Given the description of an element on the screen output the (x, y) to click on. 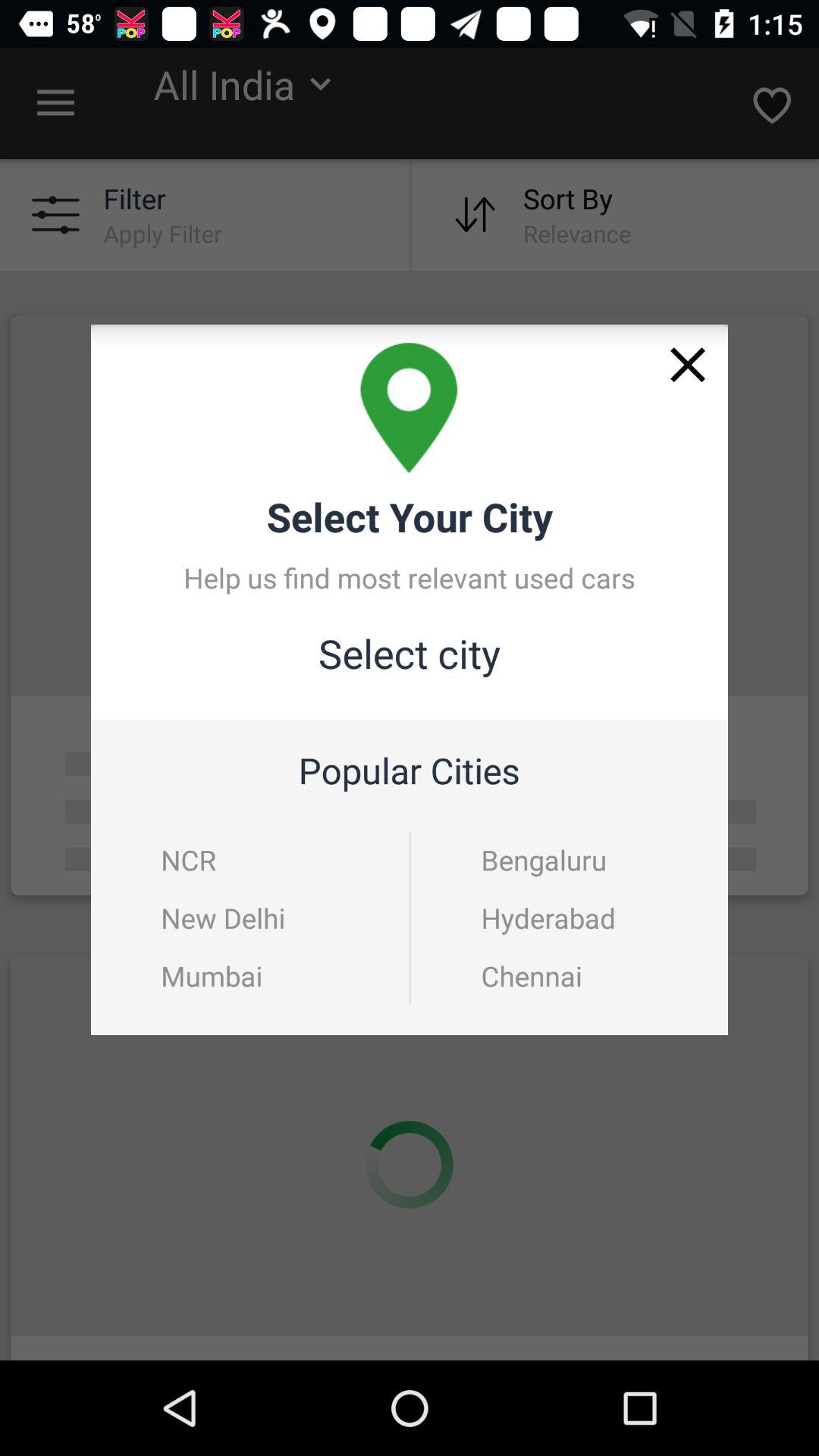
swipe to ncr (188, 859)
